Given the description of an element on the screen output the (x, y) to click on. 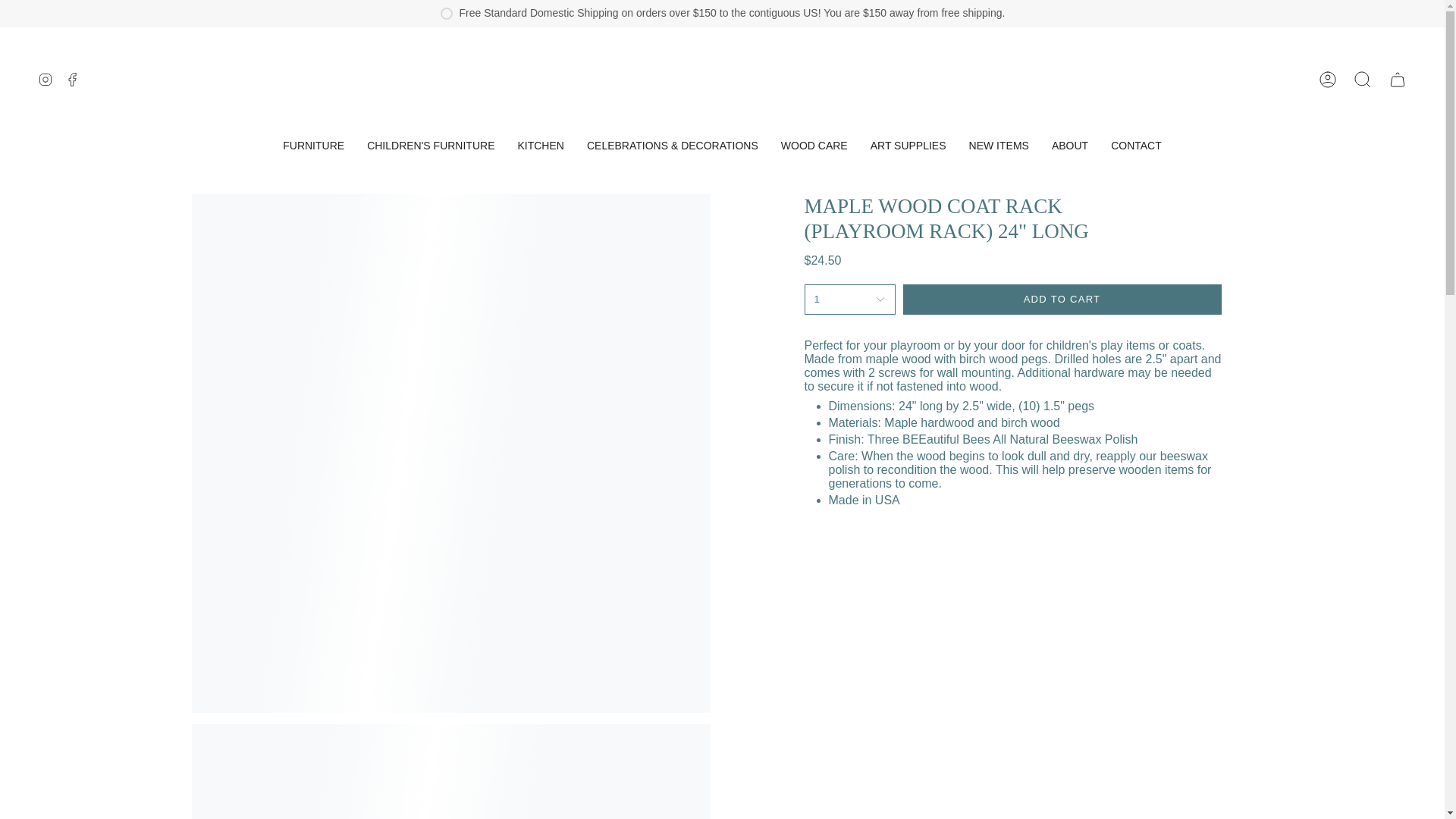
Cart (1397, 79)
My Account (1327, 79)
Cart (1397, 79)
Search (1362, 79)
Facebook (72, 78)
Account (1327, 79)
Instagram (44, 78)
KITCHEN (540, 145)
FURNITURE (312, 145)
Camden Rose Inc. on Instagram (44, 78)
